Given the description of an element on the screen output the (x, y) to click on. 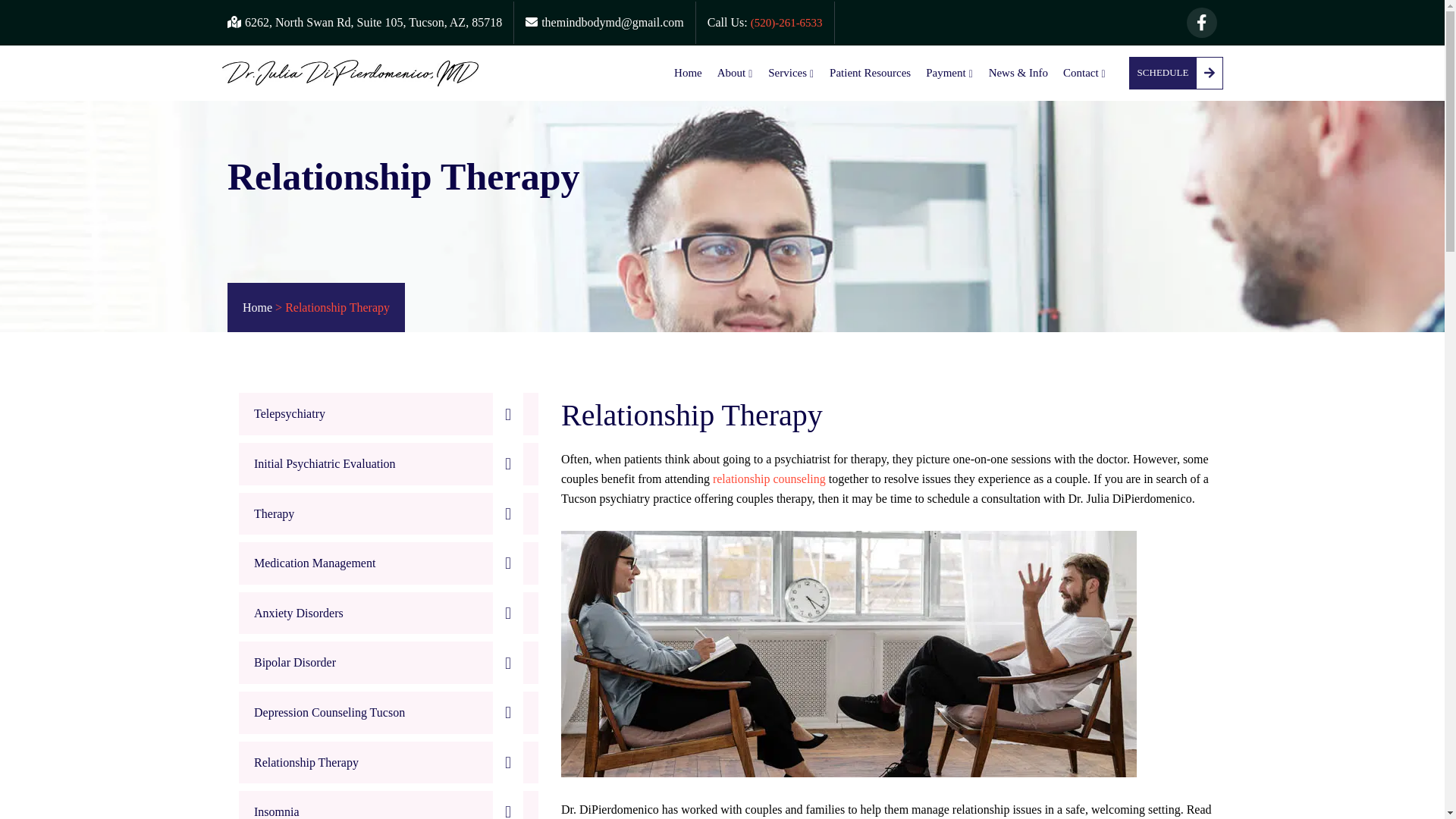
Patient Resources (870, 72)
About (735, 72)
Home (687, 72)
SCHEDULE (1176, 72)
Services (790, 72)
6262, North Swan Rd, Suite 105, Tucson, AZ, 85718 (364, 21)
Contact (1084, 72)
Payment (950, 72)
